Given the description of an element on the screen output the (x, y) to click on. 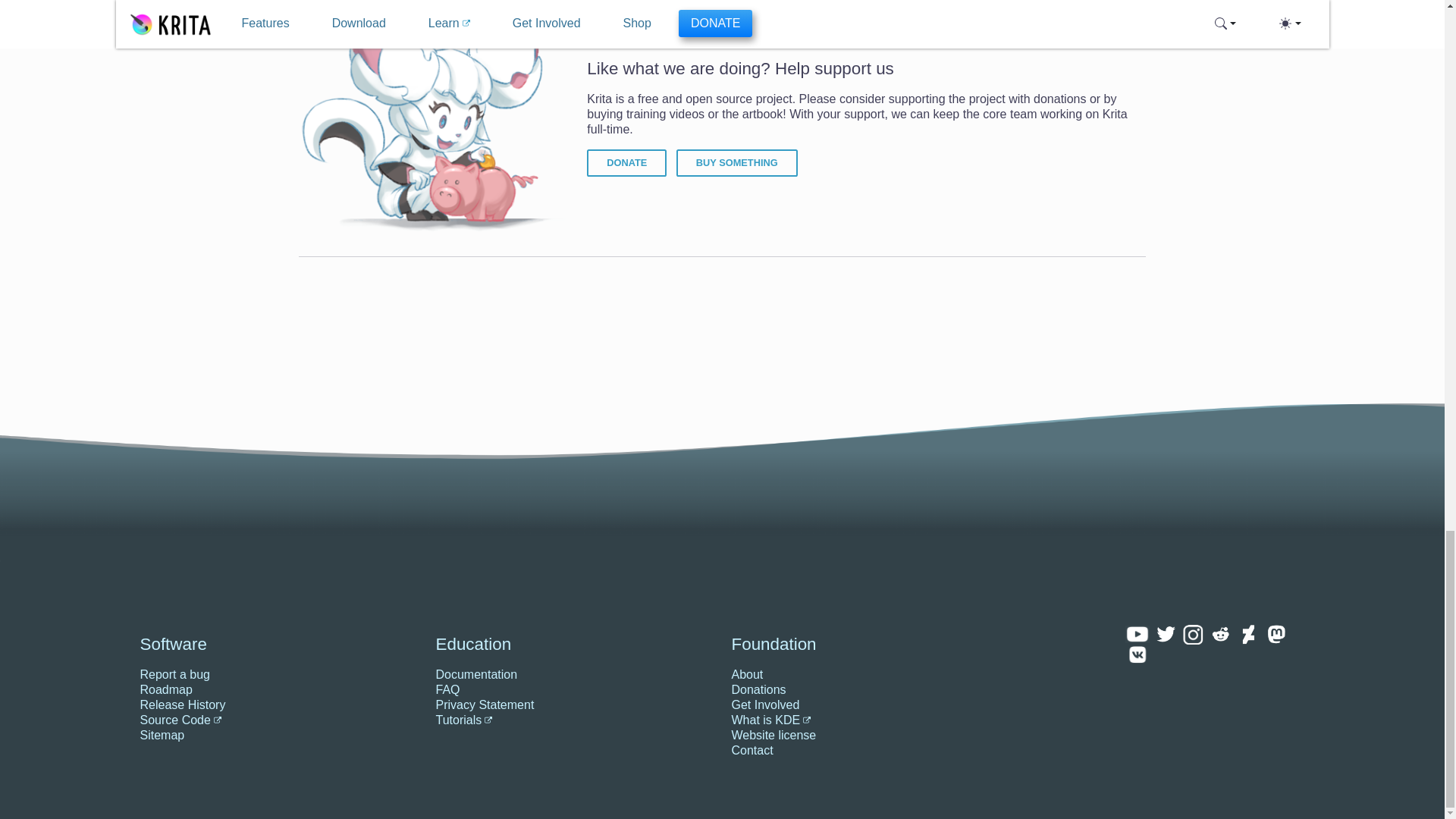
BUY SOMETHING (737, 162)
Report a bug (277, 674)
DONATE (626, 162)
Roadmap (277, 689)
Release History (277, 704)
